Given the description of an element on the screen output the (x, y) to click on. 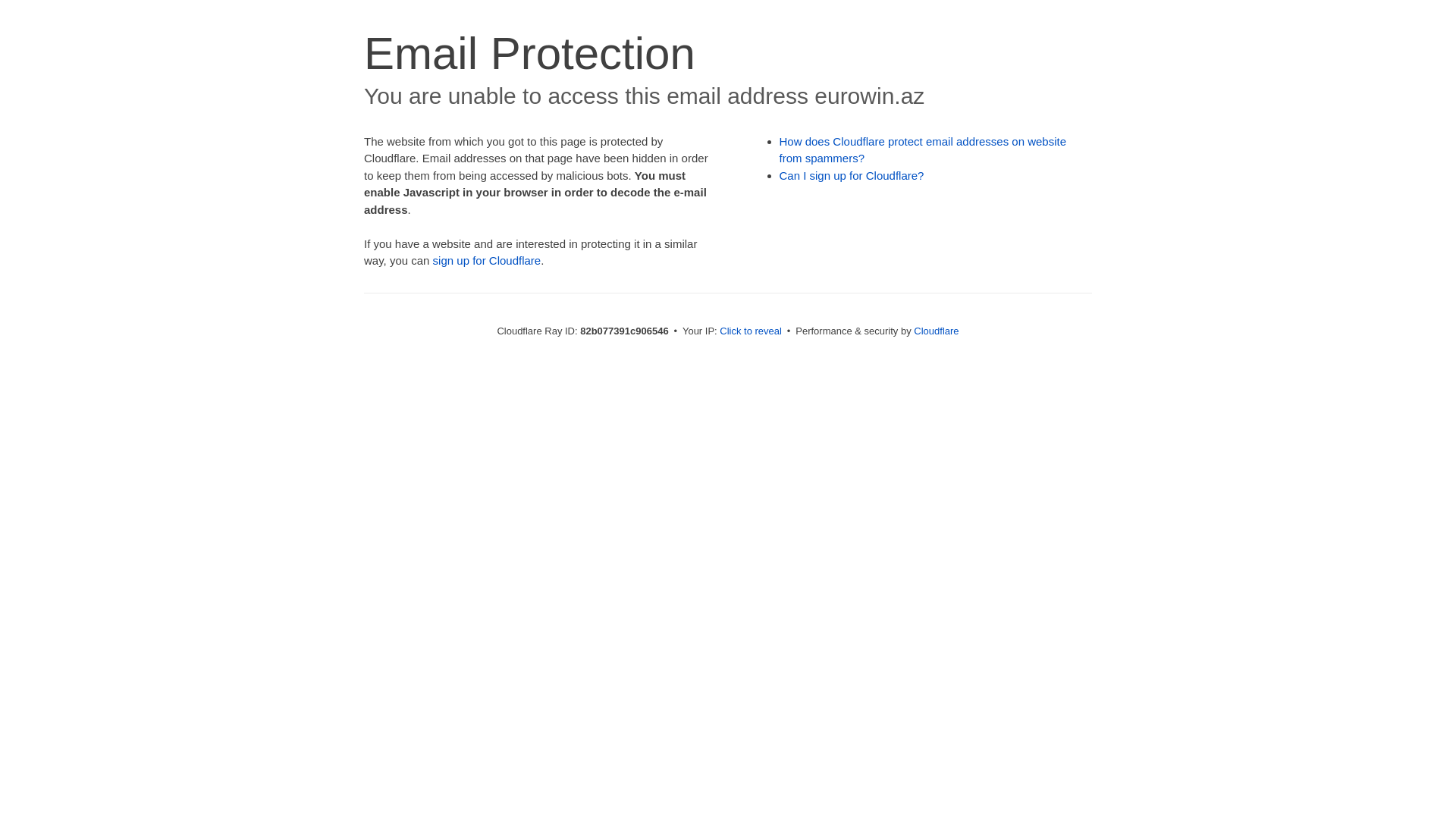
Can I sign up for Cloudflare? Element type: text (851, 175)
Cloudflare Element type: text (935, 330)
sign up for Cloudflare Element type: text (487, 260)
Click to reveal Element type: text (750, 330)
